Given the description of an element on the screen output the (x, y) to click on. 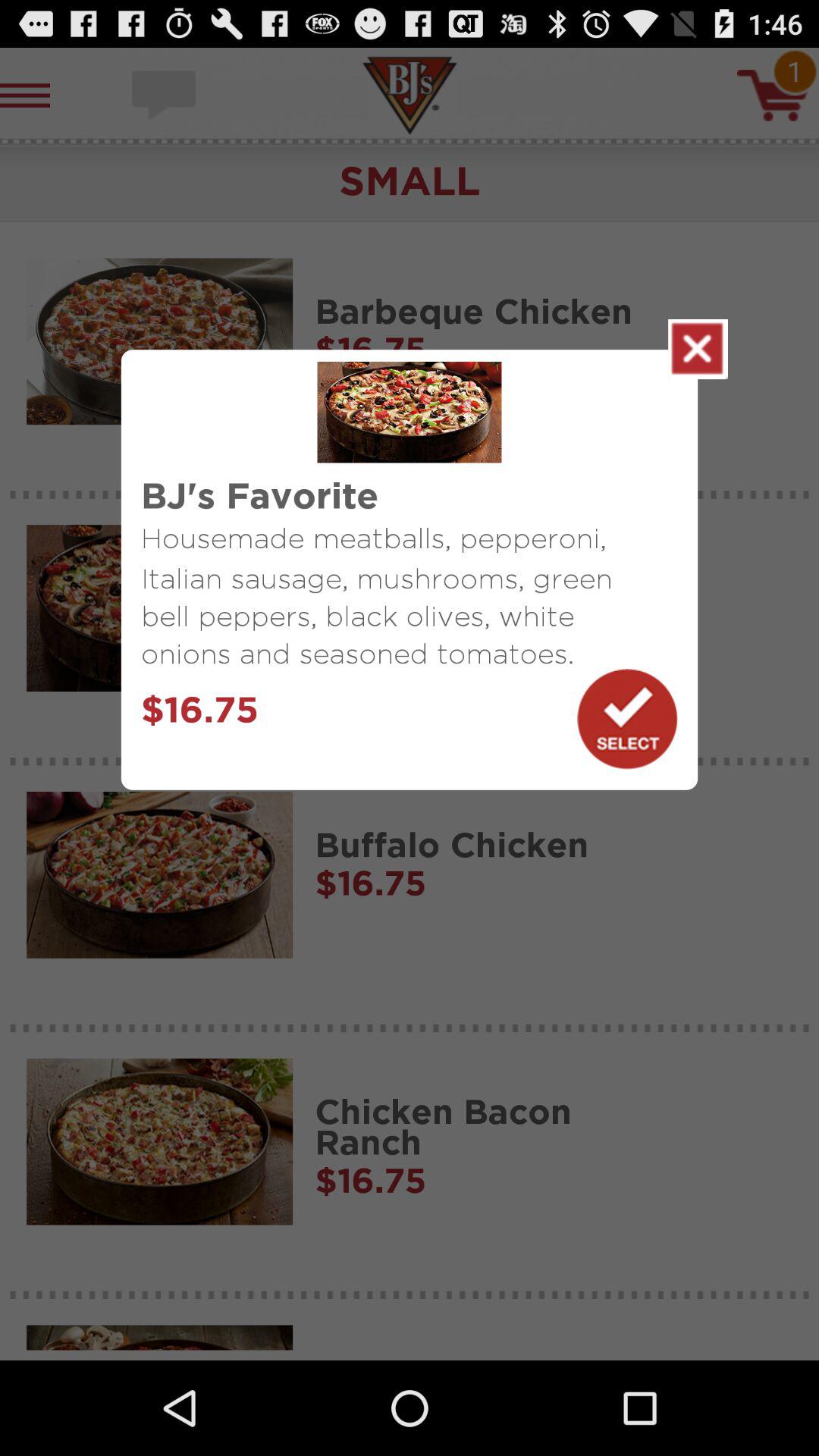
add dish to cart (627, 718)
